Given the description of an element on the screen output the (x, y) to click on. 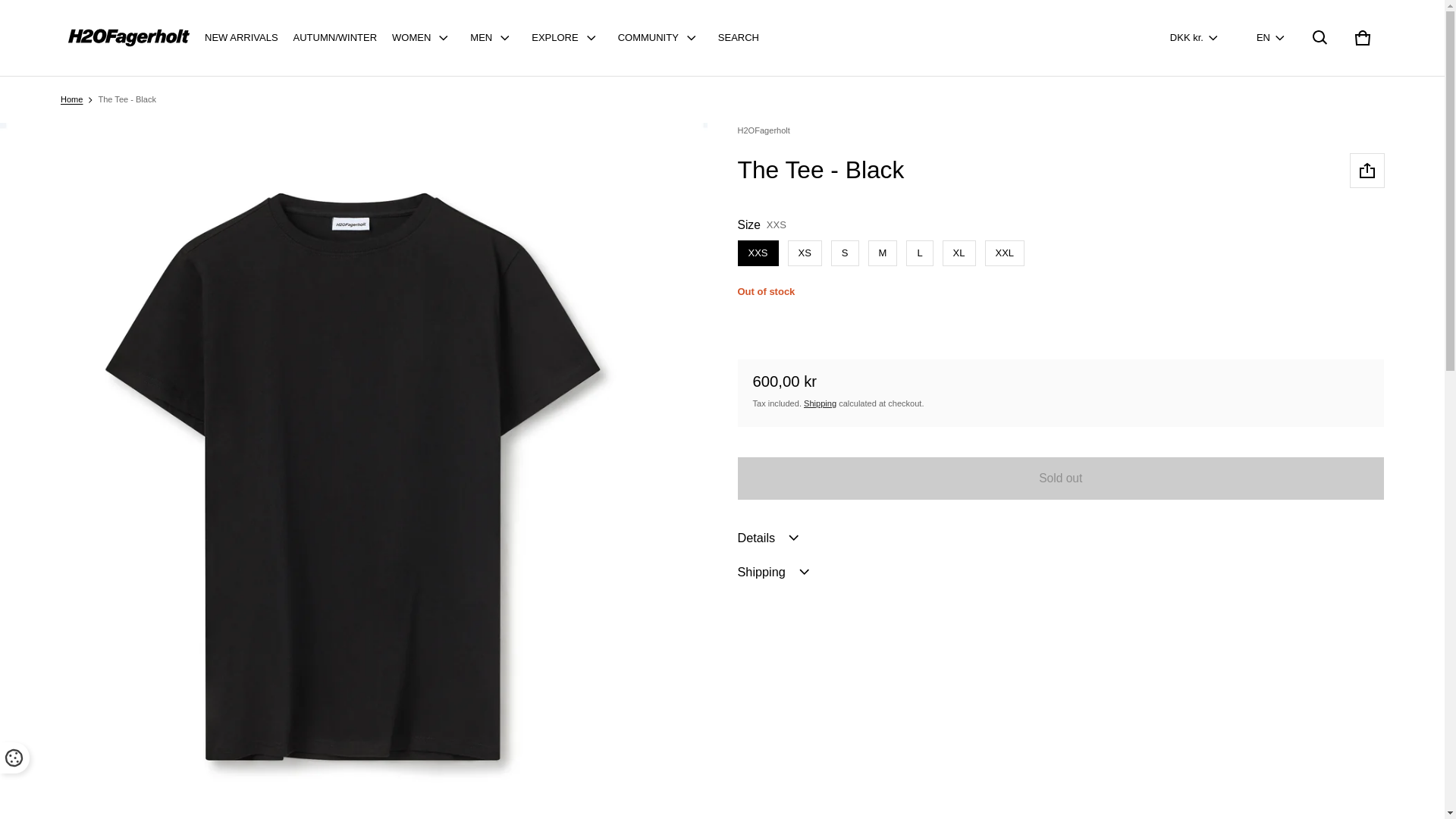
SEARCH (738, 37)
NEW ARRIVALS (240, 37)
EN (1271, 37)
XL (1362, 37)
